Given the description of an element on the screen output the (x, y) to click on. 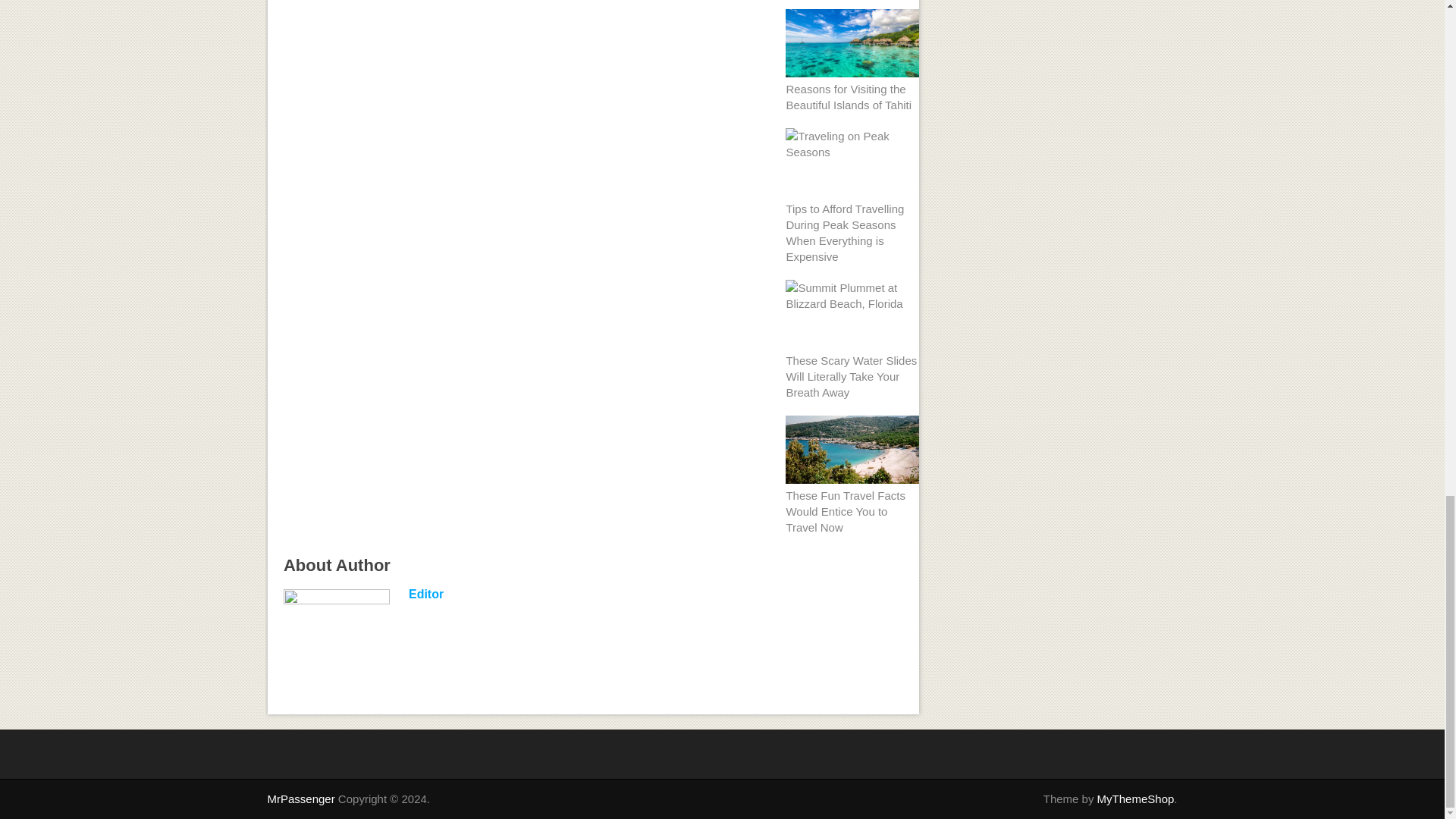
MyThemeShop (1135, 798)
Reasons for Visiting the Beautiful Islands of Tahiti (848, 96)
Editor (426, 594)
These Fun Travel Facts Would Entice You to Travel Now (845, 510)
These Fun Travel Facts Would Entice You to Travel Now (845, 510)
MrPassenger (300, 798)
